Given the description of an element on the screen output the (x, y) to click on. 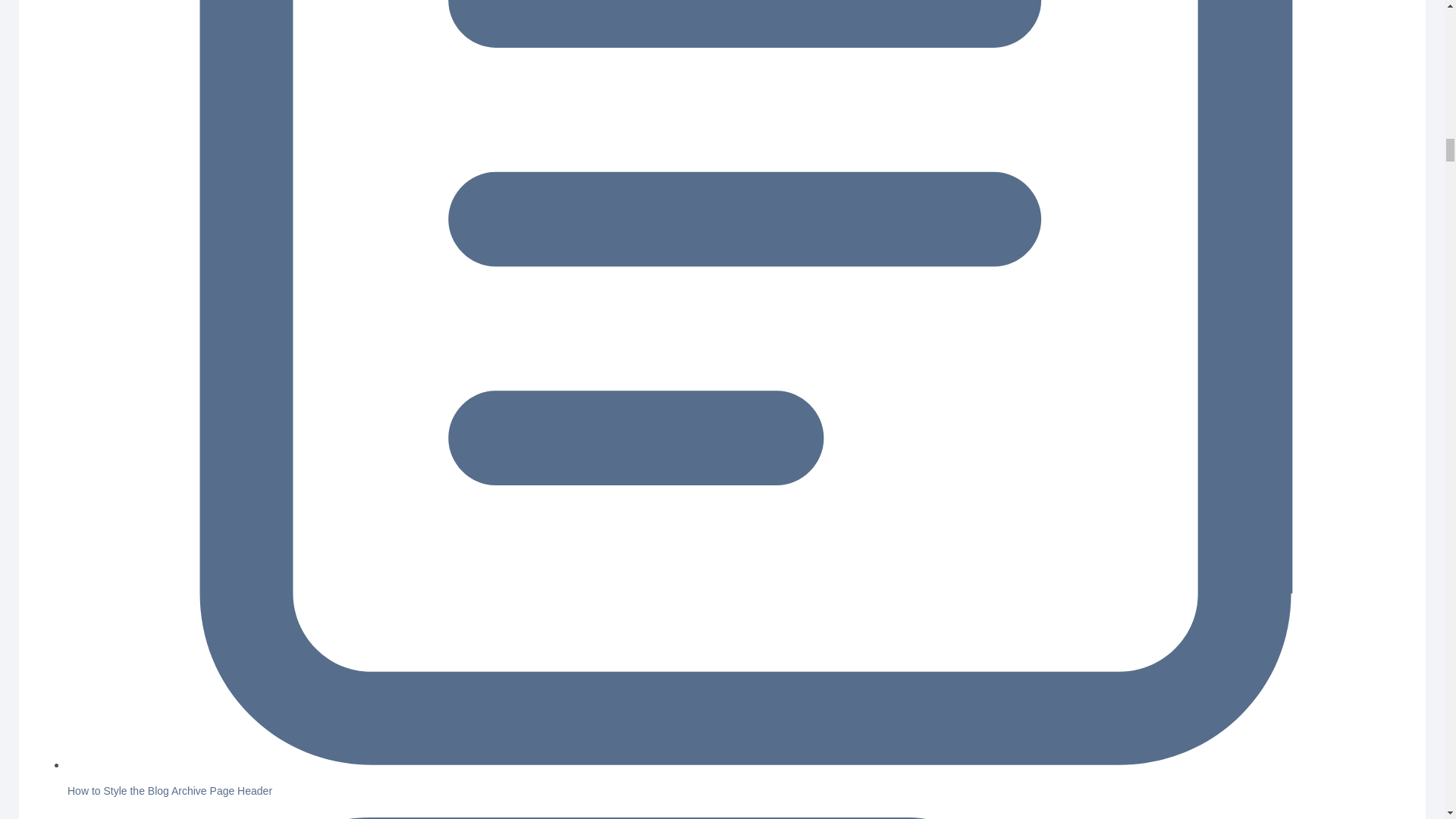
How to Style the Blog Archive Page Header (169, 790)
